Given the description of an element on the screen output the (x, y) to click on. 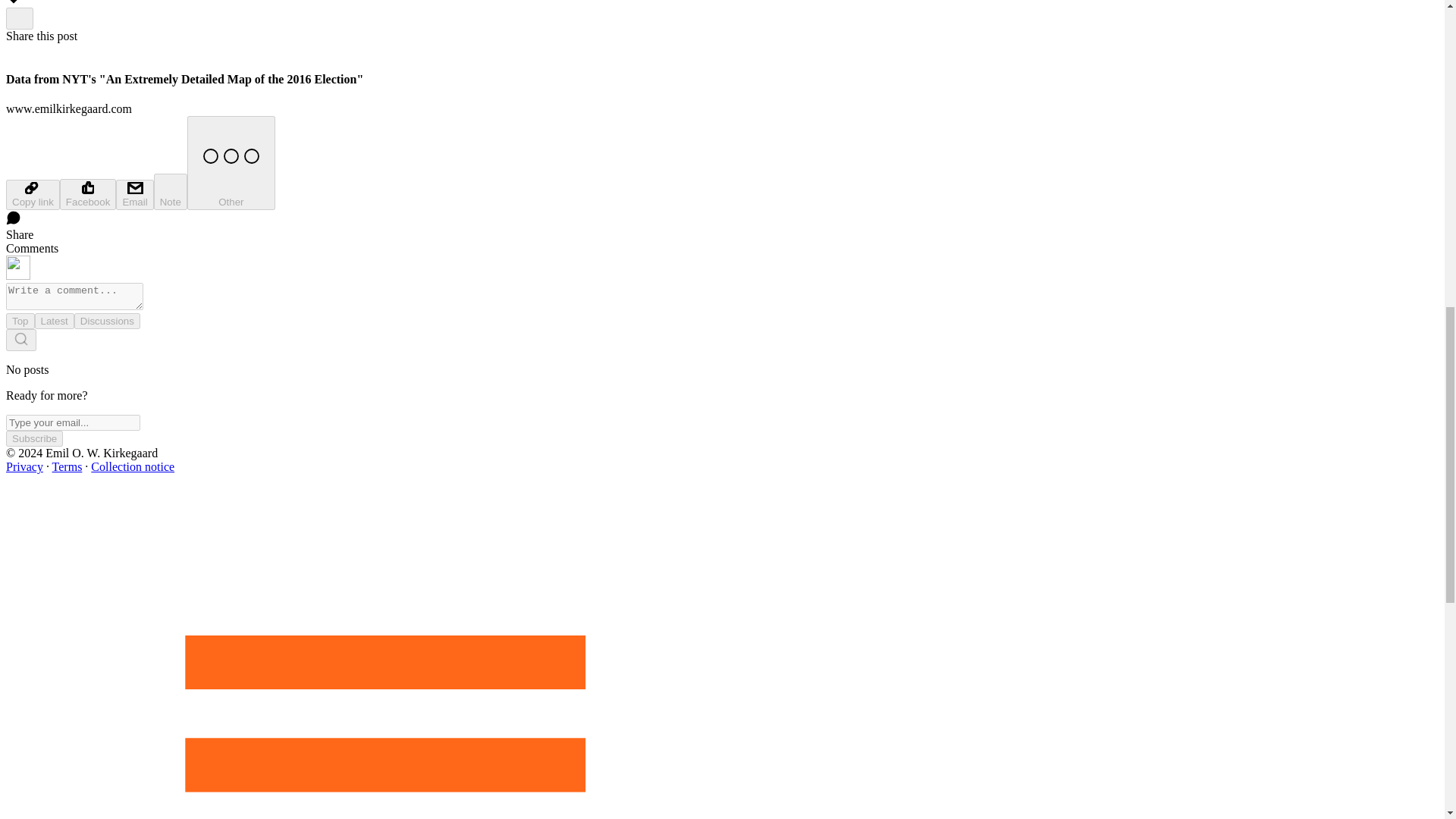
Discussions (106, 320)
Top (19, 320)
Latest (54, 320)
Other (231, 162)
Copy link (32, 194)
Email (134, 194)
Facebook (87, 194)
Note (170, 191)
